Given the description of an element on the screen output the (x, y) to click on. 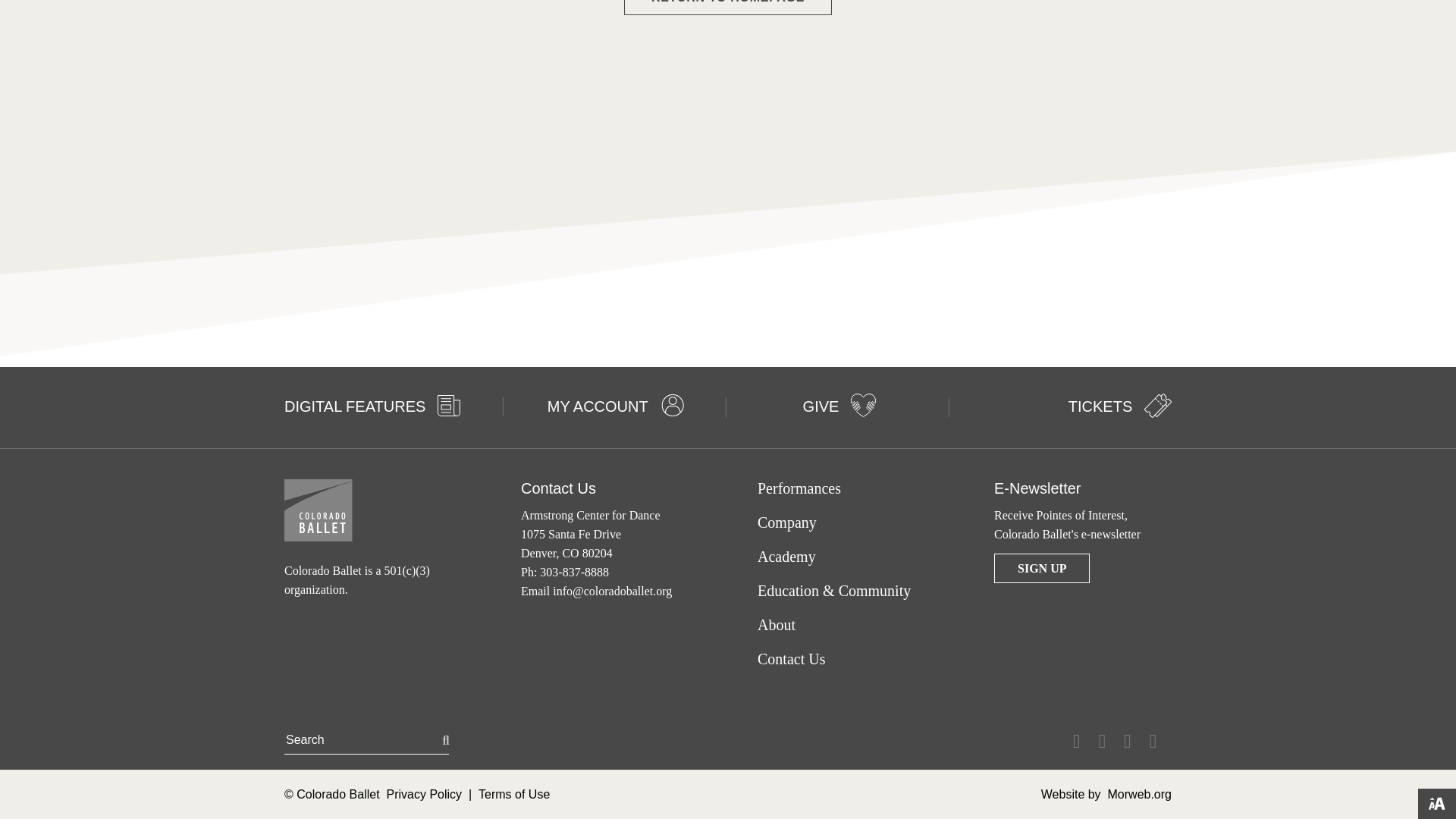
Tickets (1158, 404)
Digital Features (449, 405)
Give (863, 404)
My Account (672, 405)
